Given the description of an element on the screen output the (x, y) to click on. 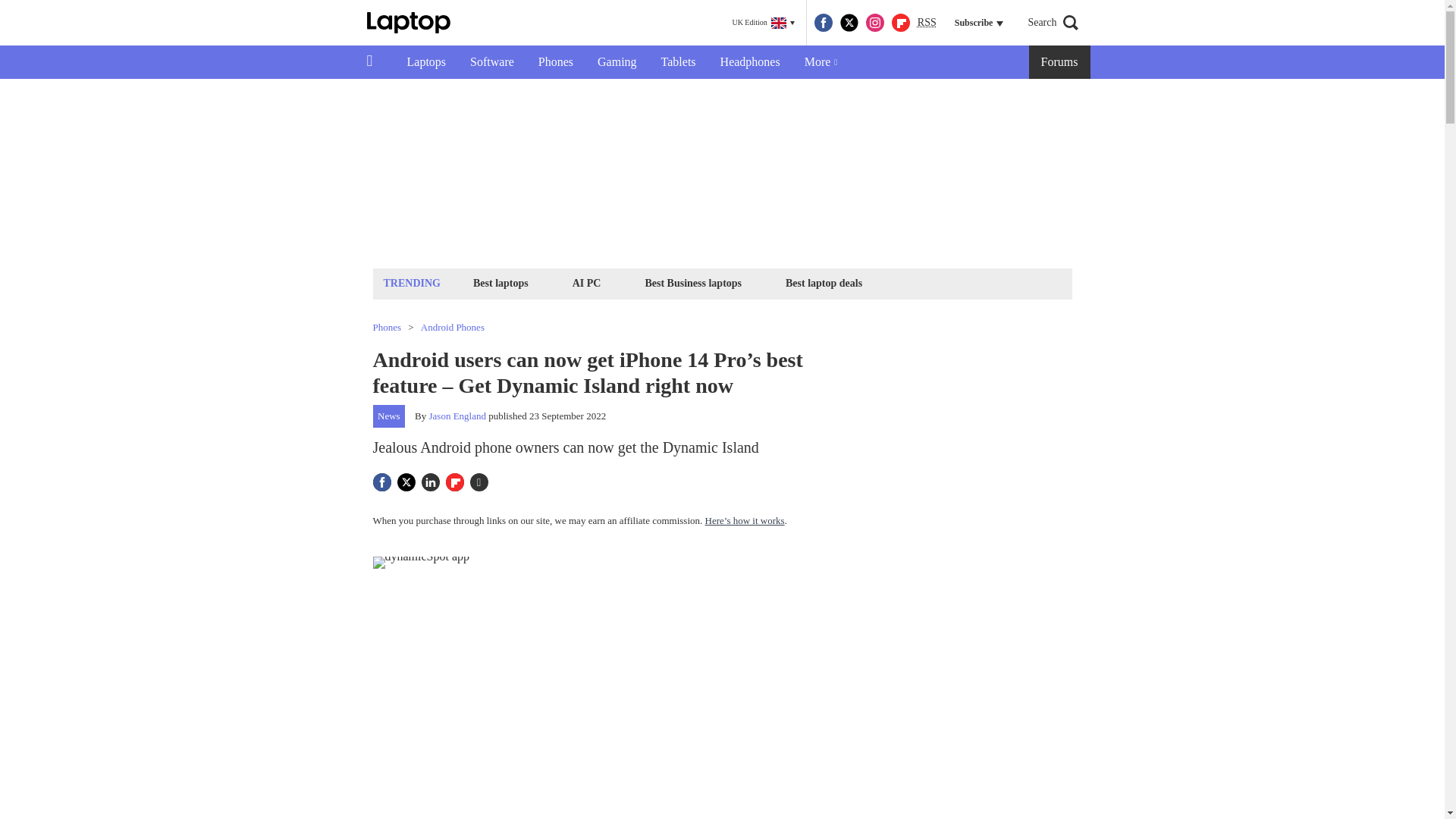
Tablets (678, 61)
Best laptops (500, 282)
Forums (1059, 61)
Really Simple Syndication (926, 21)
Best laptop deals (823, 282)
Software (491, 61)
AI PC (587, 282)
Gaming (617, 61)
Headphones (749, 61)
Best Business laptops (692, 282)
